Given the description of an element on the screen output the (x, y) to click on. 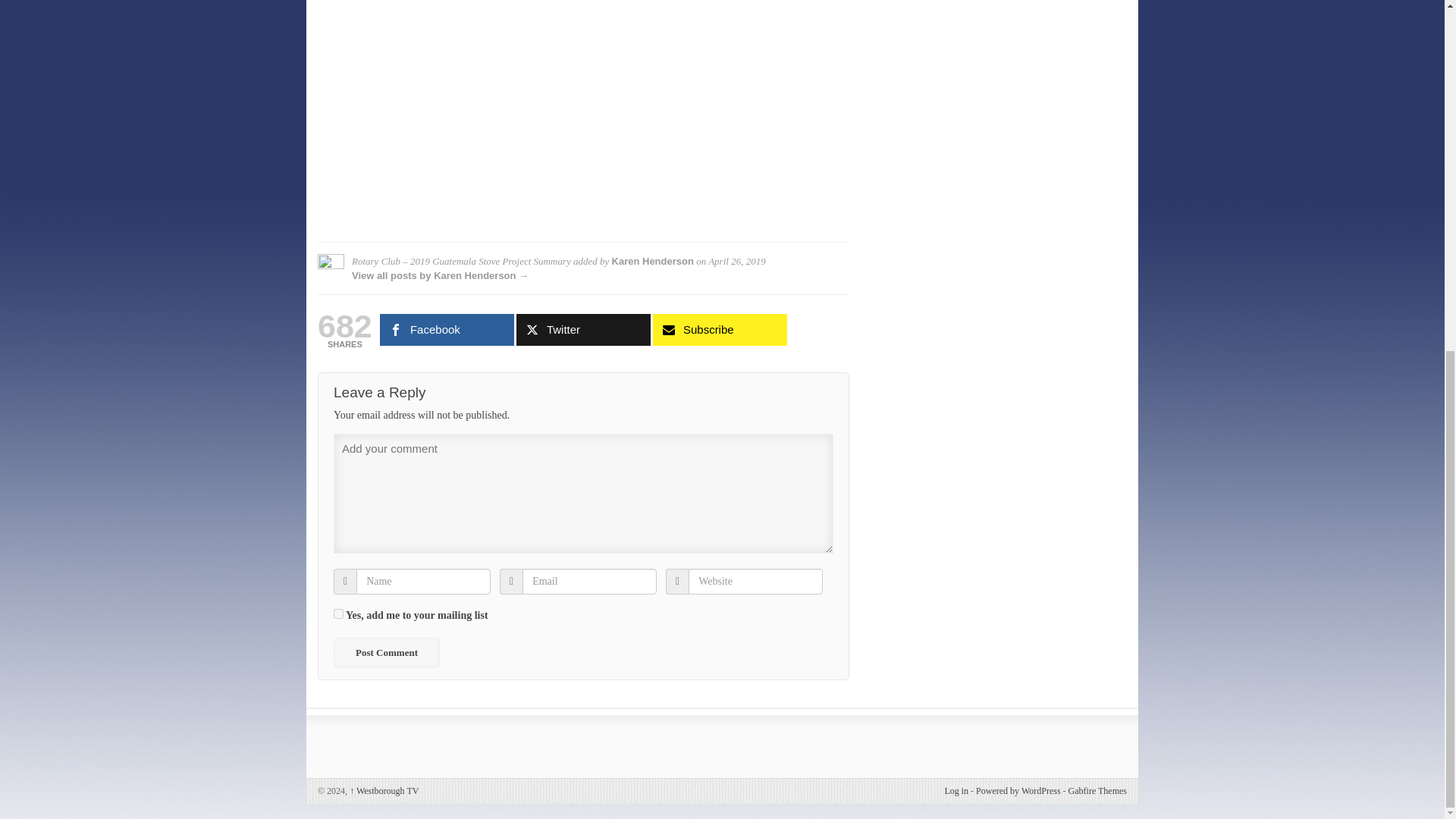
1 (338, 614)
Post Comment (386, 653)
Semantic Personal Publishing Platform (1017, 790)
Westborough TV (384, 790)
WordPress Newspaper Themes (1097, 790)
